Given the description of an element on the screen output the (x, y) to click on. 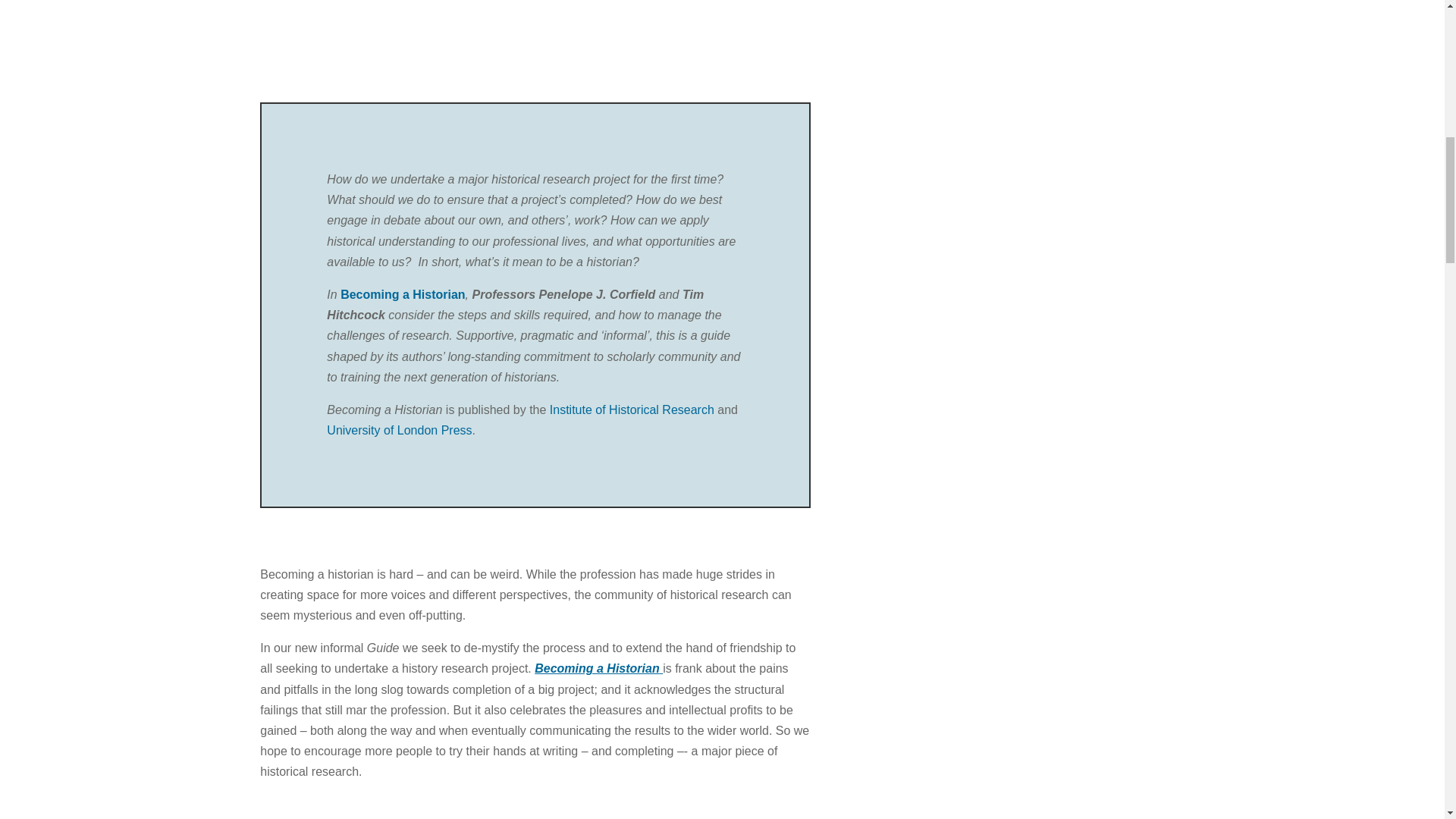
Institute of Historical Research (632, 409)
Becoming a Historian (402, 294)
Becoming a Historian (598, 667)
University of London Press (398, 430)
